Given the description of an element on the screen output the (x, y) to click on. 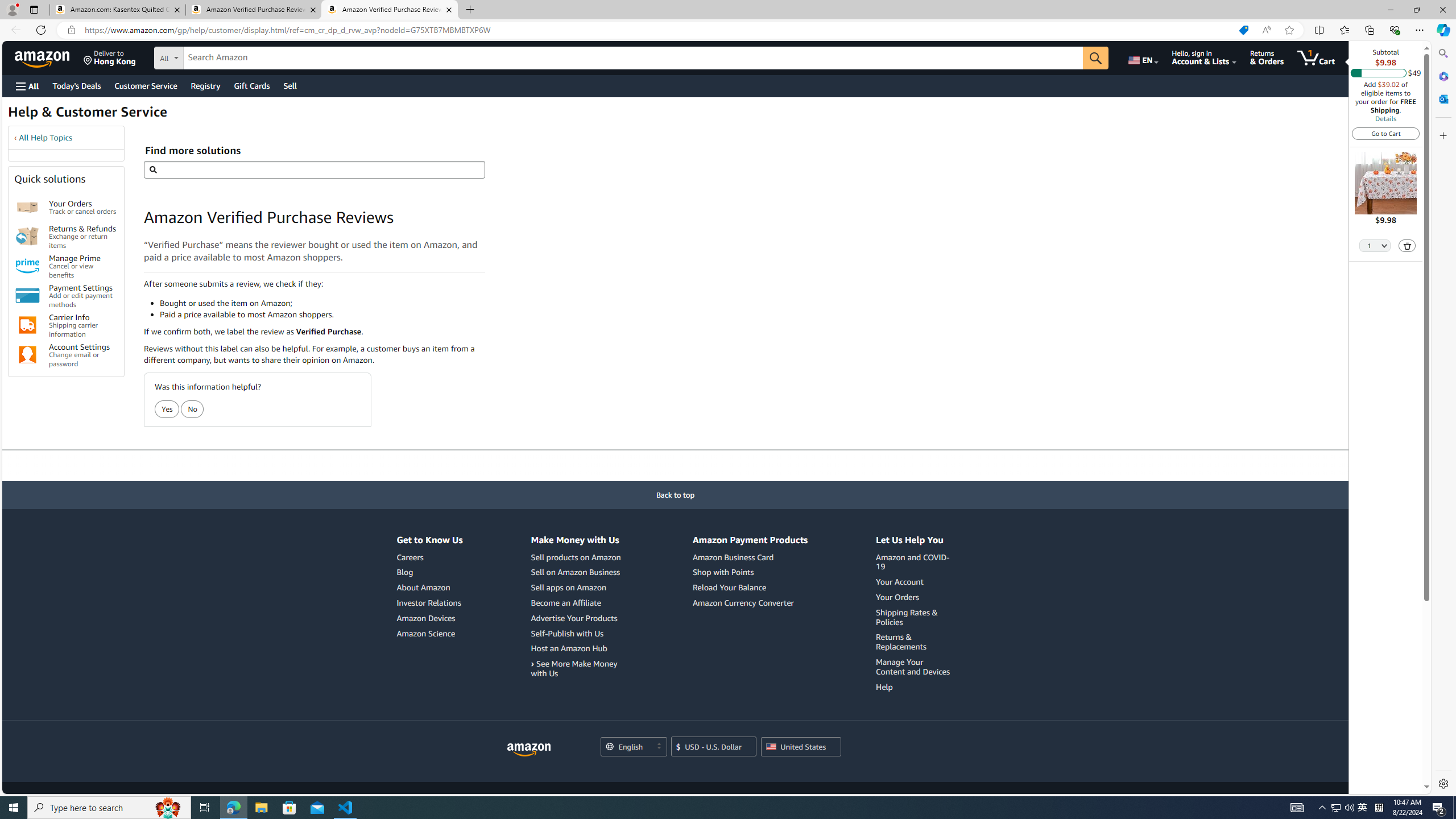
Account Settings Change email or password (82, 354)
$ USD - U.S. Dollar (714, 746)
Split screen (1318, 29)
Amazon Verified Purchase Reviews - Amazon Customer Service (390, 9)
Advertise Your Products (576, 618)
Today's Deals (76, 85)
Restore (1416, 9)
Search in (210, 56)
Back to top (675, 494)
Manage Your Content and Devices (914, 666)
Returns & Refunds (27, 236)
Sell products on Amazon (575, 557)
View site information (70, 29)
Carrier Info Shipping carrier information (82, 325)
Skip to main content (48, 56)
